Given the description of an element on the screen output the (x, y) to click on. 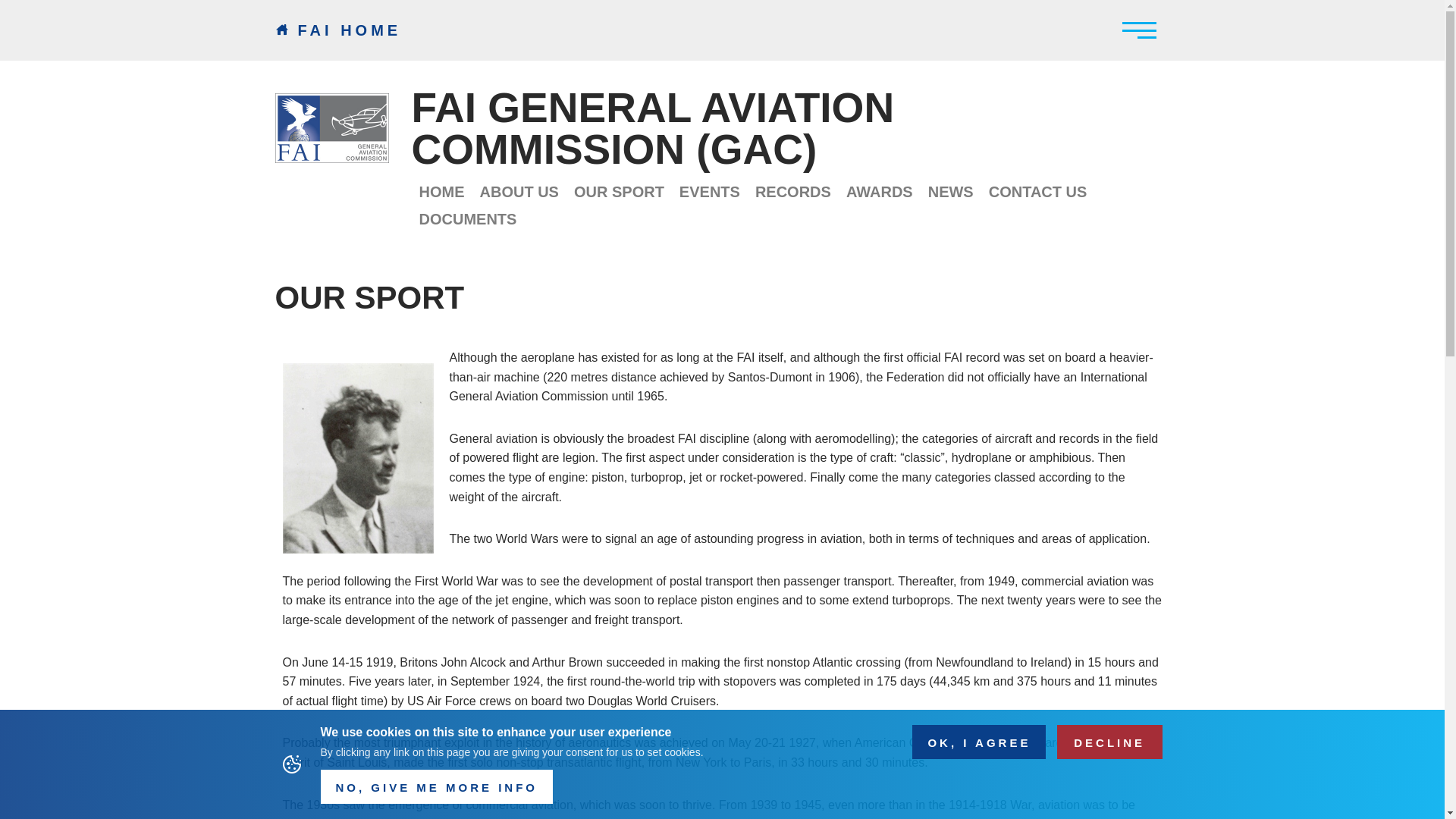
FAI HOME (338, 30)
